Given the description of an element on the screen output the (x, y) to click on. 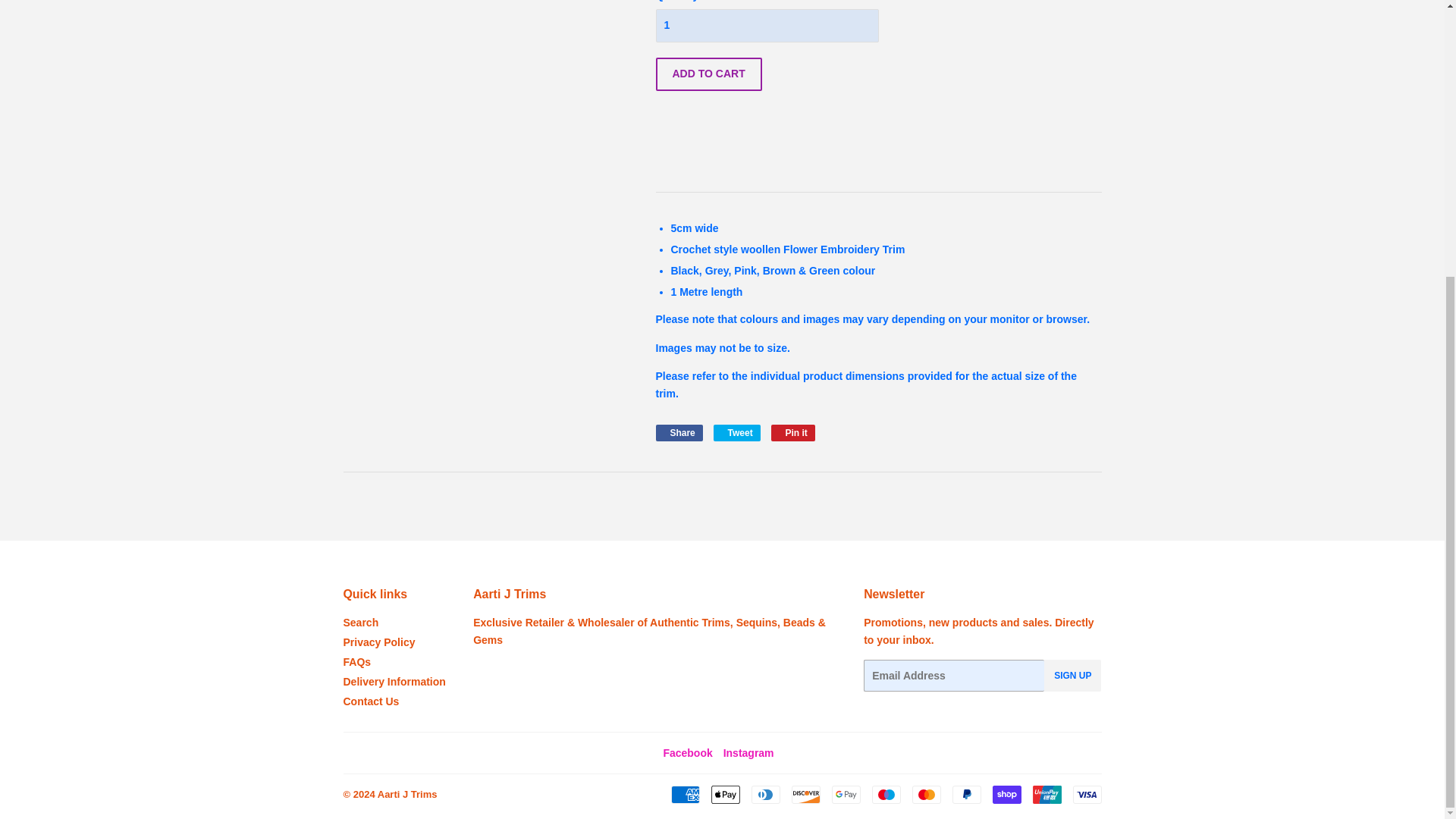
Apple Pay (725, 794)
1 (766, 25)
Maestro (886, 794)
Discover (806, 794)
Aarti J Trims on Facebook (686, 752)
Shop Pay (1005, 794)
Visa (1085, 794)
Pin on Pinterest (793, 433)
Google Pay (845, 794)
Tweet on Twitter (736, 433)
